Given the description of an element on the screen output the (x, y) to click on. 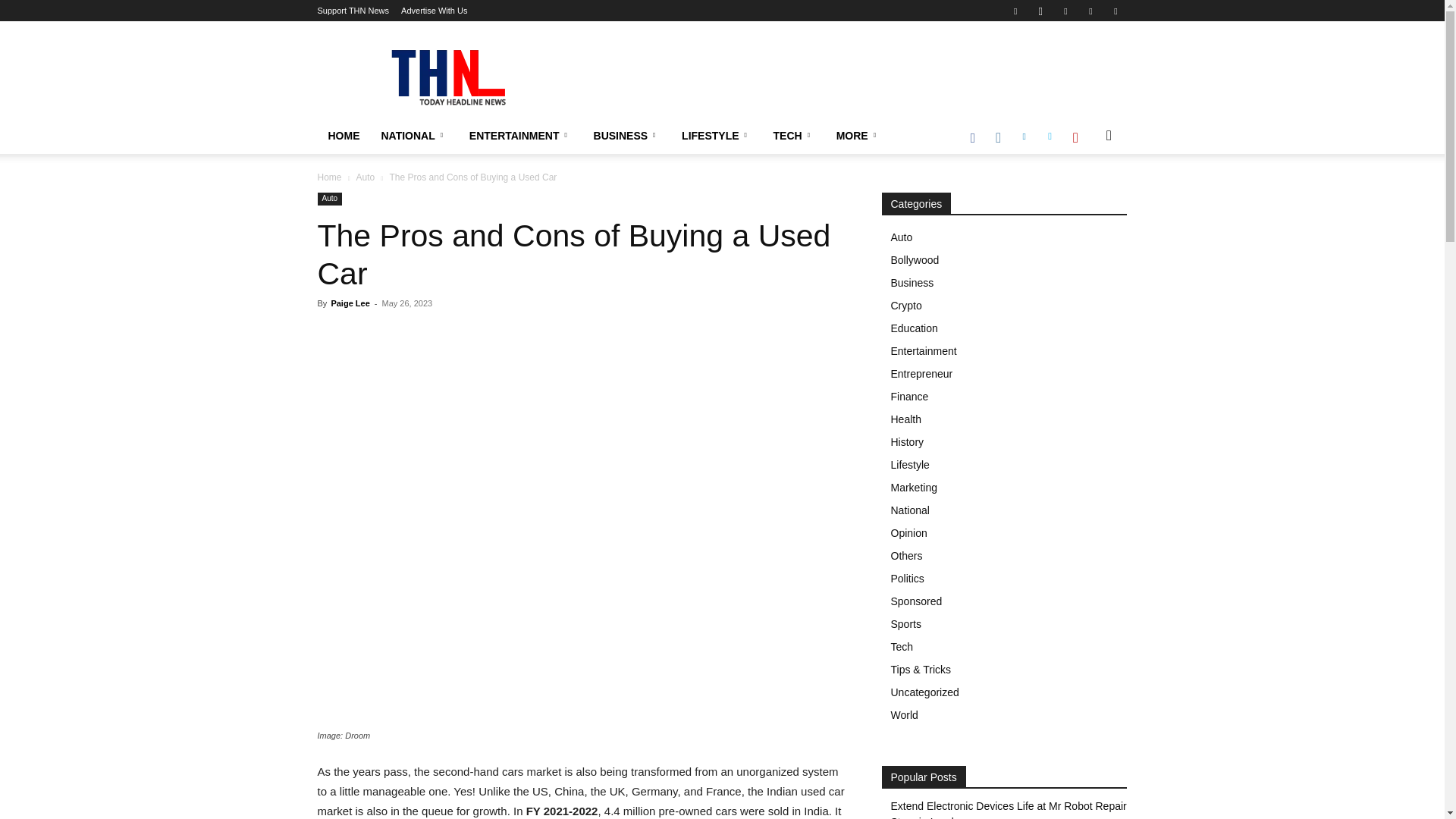
Twitter (1090, 10)
Linkedin (1065, 10)
Facebook (1015, 10)
Advertise With Us (434, 10)
Support THN News (352, 10)
Youtube (1114, 10)
Instagram (1040, 10)
